Given the description of an element on the screen output the (x, y) to click on. 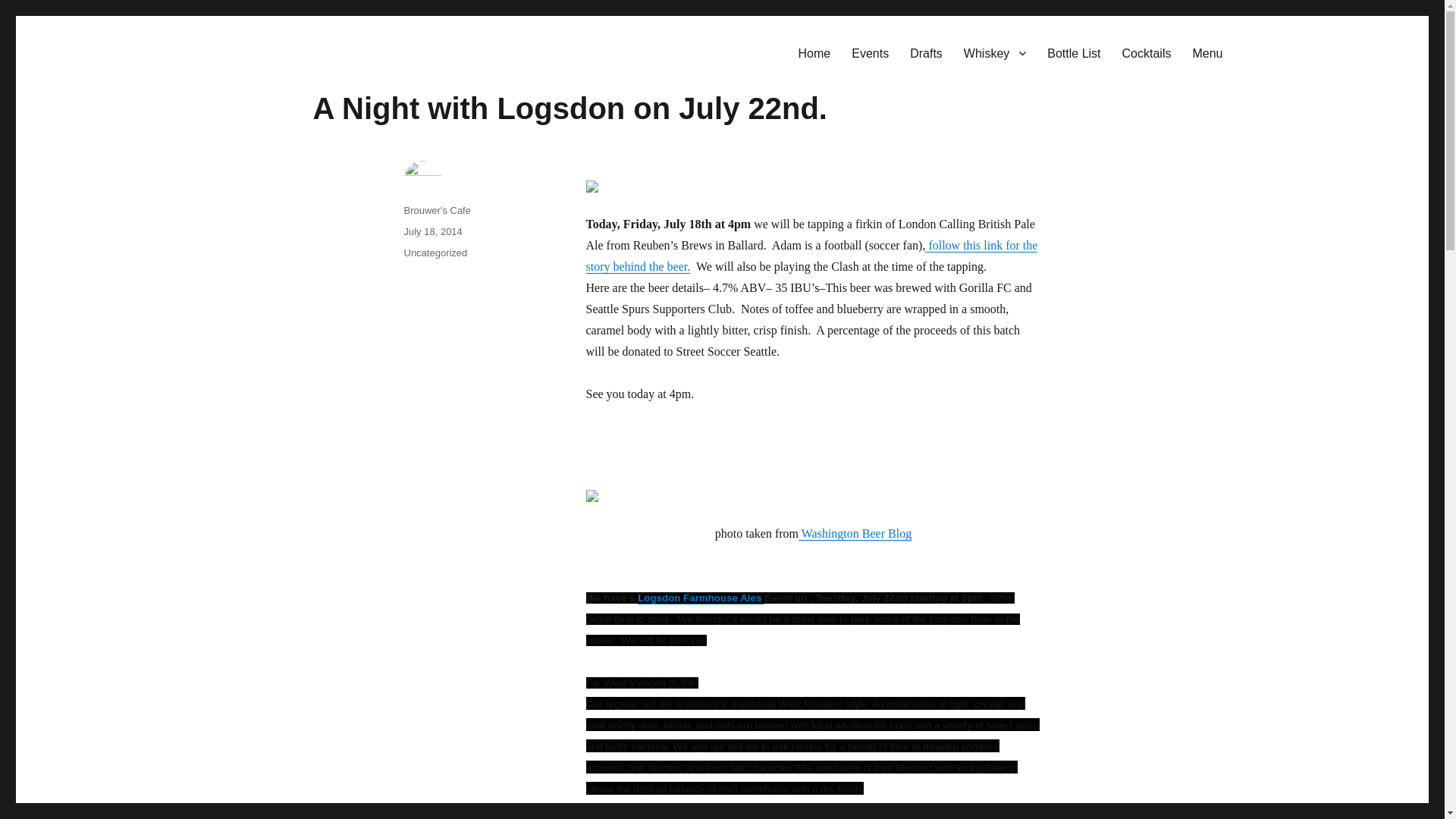
Drafts (926, 52)
Cocktails (1147, 52)
Washington Beer Blog (854, 533)
follow this link for the story behind the beer. (810, 255)
Whiskey (994, 52)
Home (814, 52)
Bottle List (1073, 52)
Brouwer's Cafe (436, 210)
Menu (1206, 52)
Events (870, 52)
Uncategorized (435, 252)
Logsdon Farmhouse Ales (700, 597)
July 18, 2014 (432, 231)
